Given the description of an element on the screen output the (x, y) to click on. 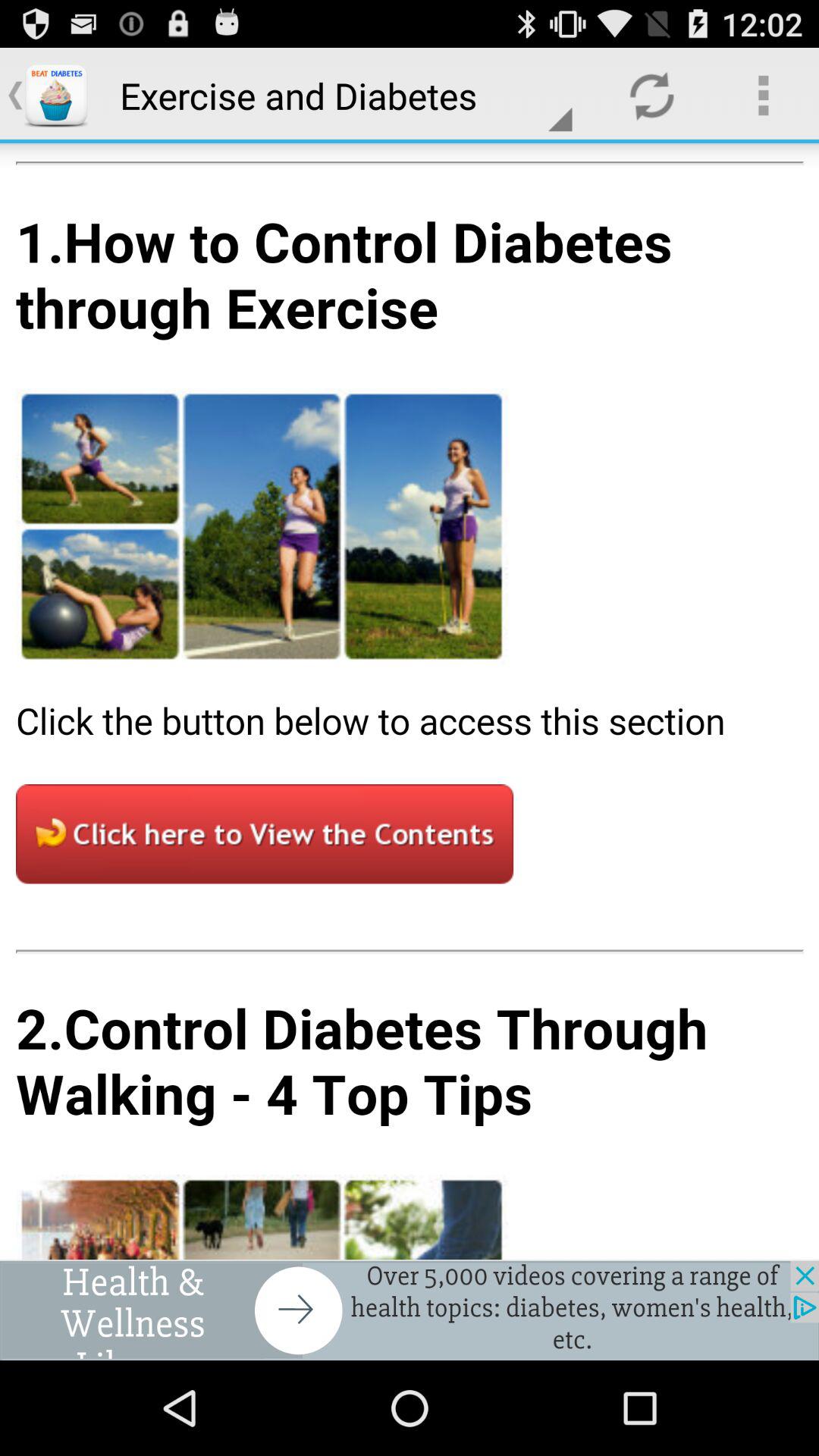
advertisement page (409, 701)
